Given the description of an element on the screen output the (x, y) to click on. 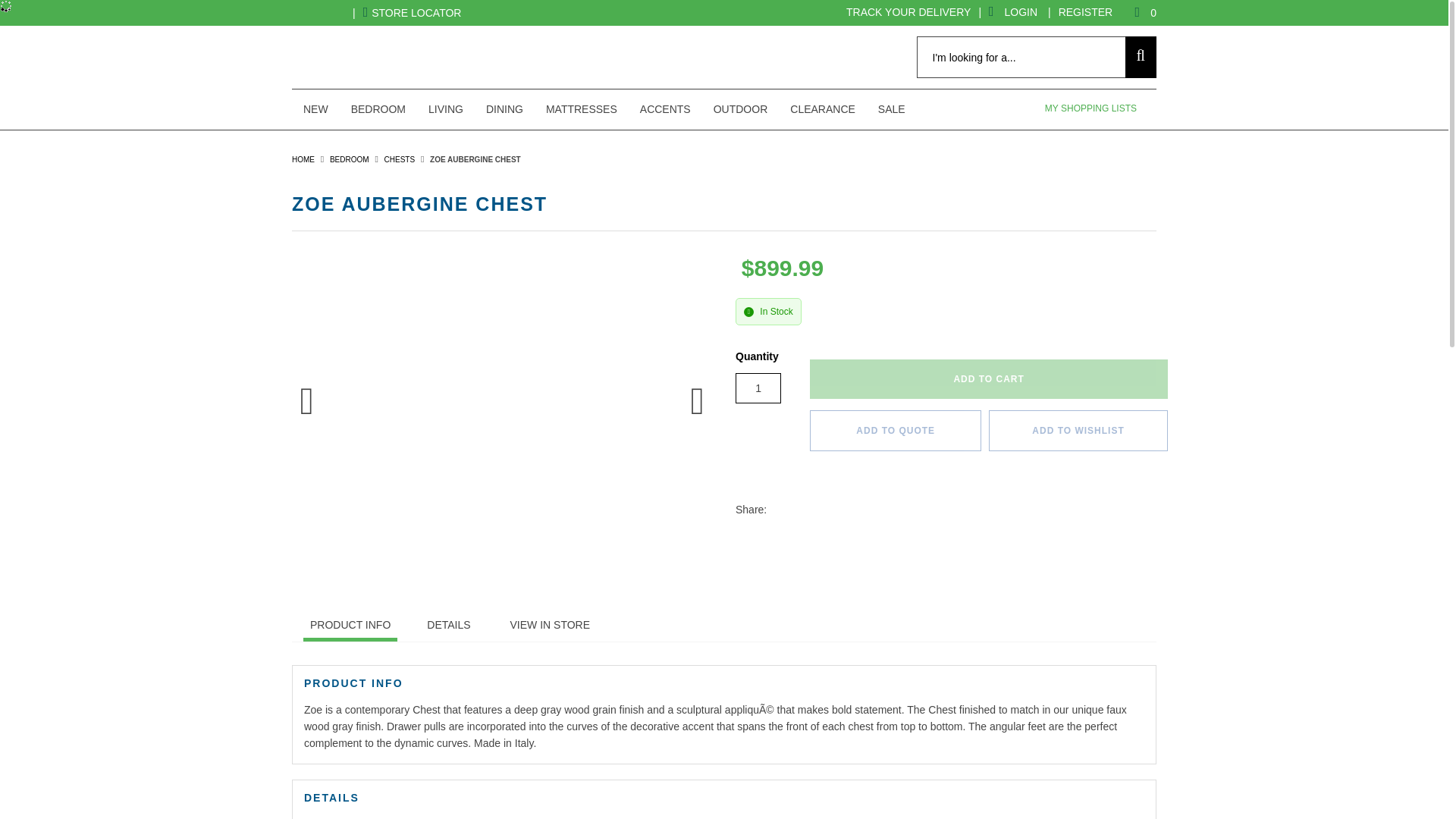
0 (1137, 12)
NEW (315, 108)
LOGIN (1013, 11)
BEDROOM (377, 108)
REGISTER (1086, 11)
LIVING (445, 108)
TRACK YOUR DELIVERY (908, 11)
Cart (1137, 12)
1 (757, 388)
Store Locator (411, 12)
STORE LOCATOR (411, 12)
